Given the description of an element on the screen output the (x, y) to click on. 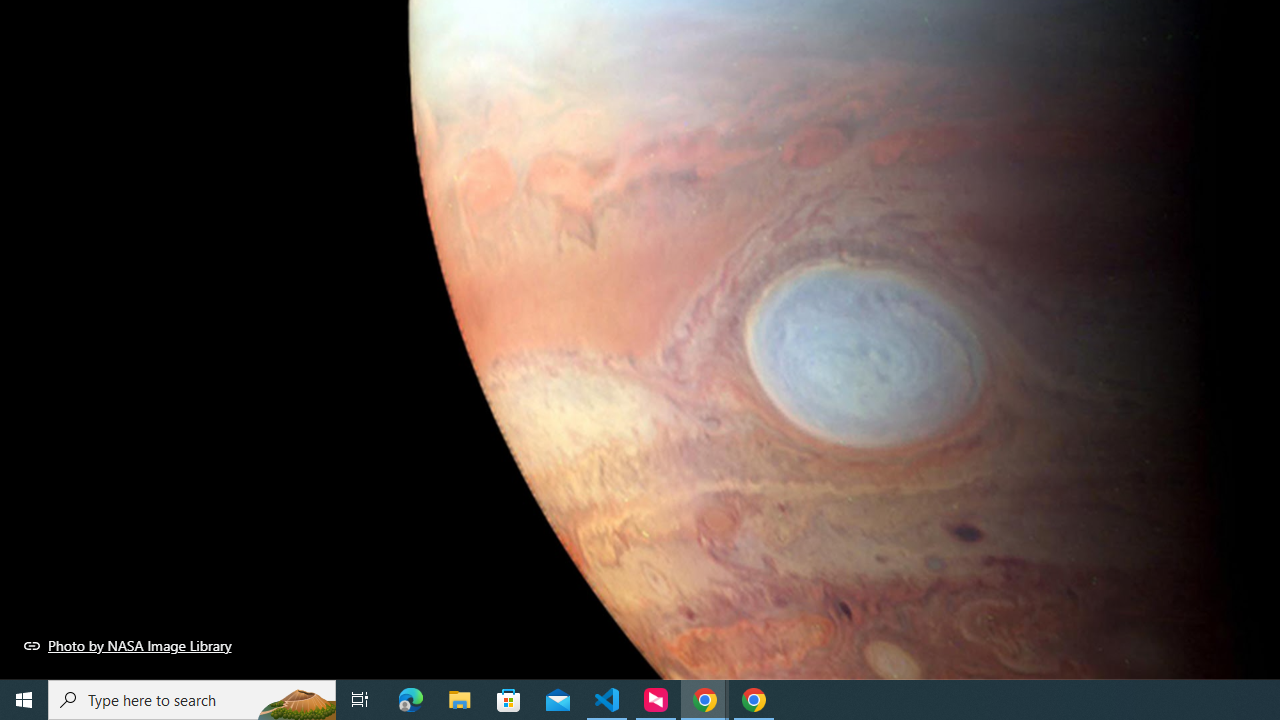
Photo by NASA Image Library (127, 645)
